Given the description of an element on the screen output the (x, y) to click on. 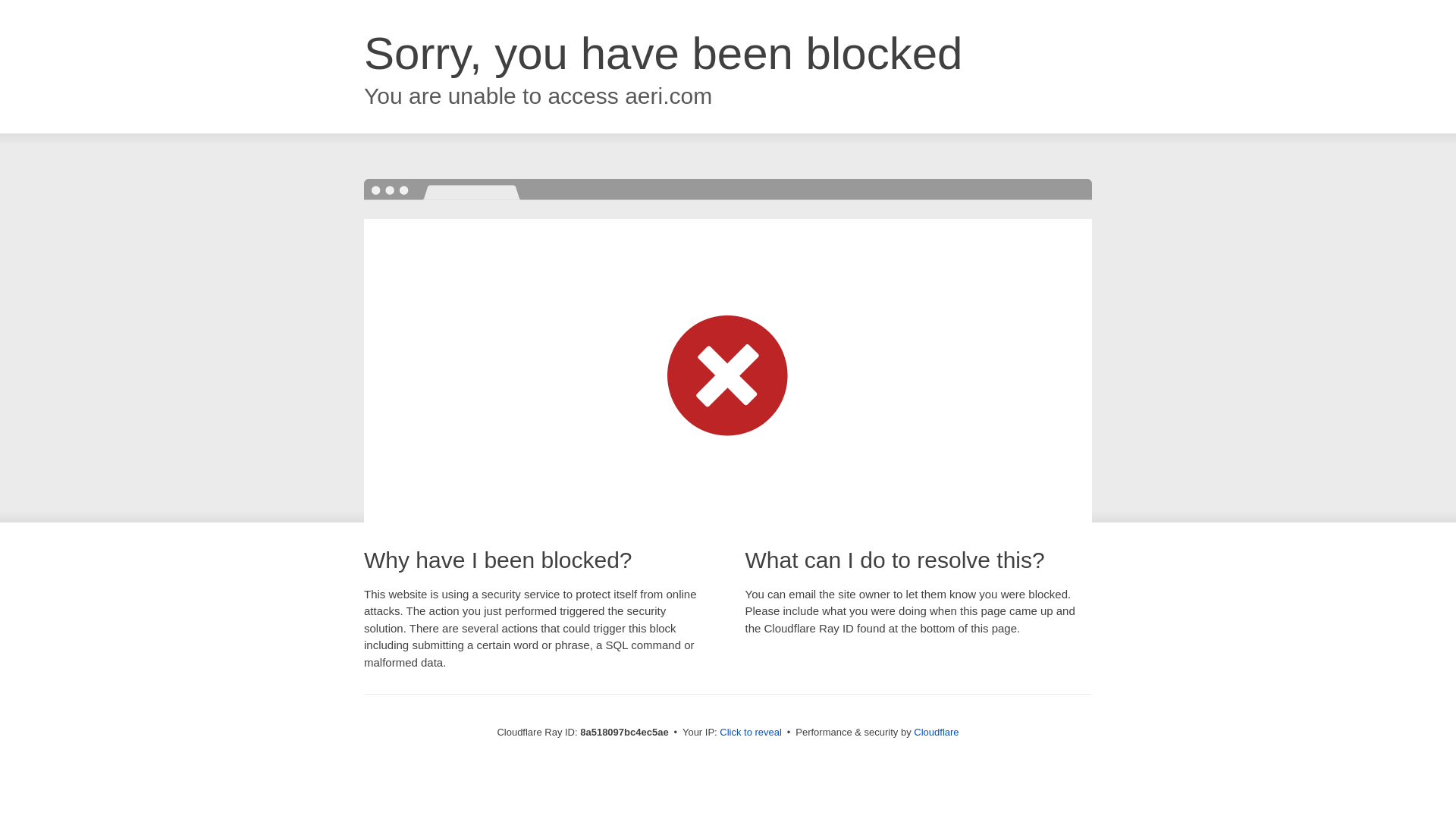
Click to reveal (750, 732)
Cloudflare (936, 731)
